Given the description of an element on the screen output the (x, y) to click on. 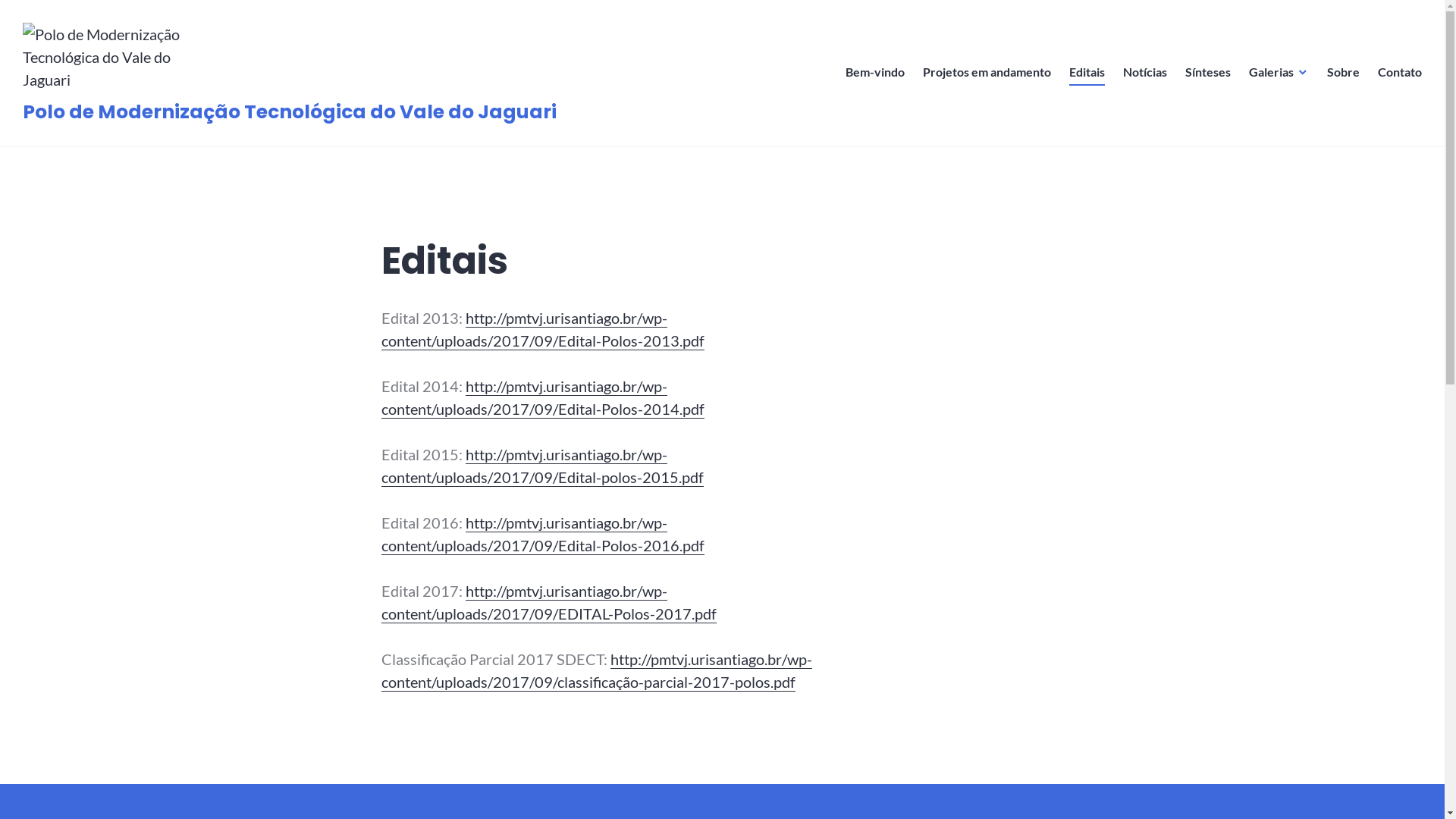
Editais Element type: text (1086, 72)
Projetos em andamento Element type: text (986, 72)
Sobre Element type: text (1343, 72)
Bem-vindo Element type: text (874, 72)
Contato Element type: text (1399, 72)
Galerias Element type: text (1278, 72)
